Given the description of an element on the screen output the (x, y) to click on. 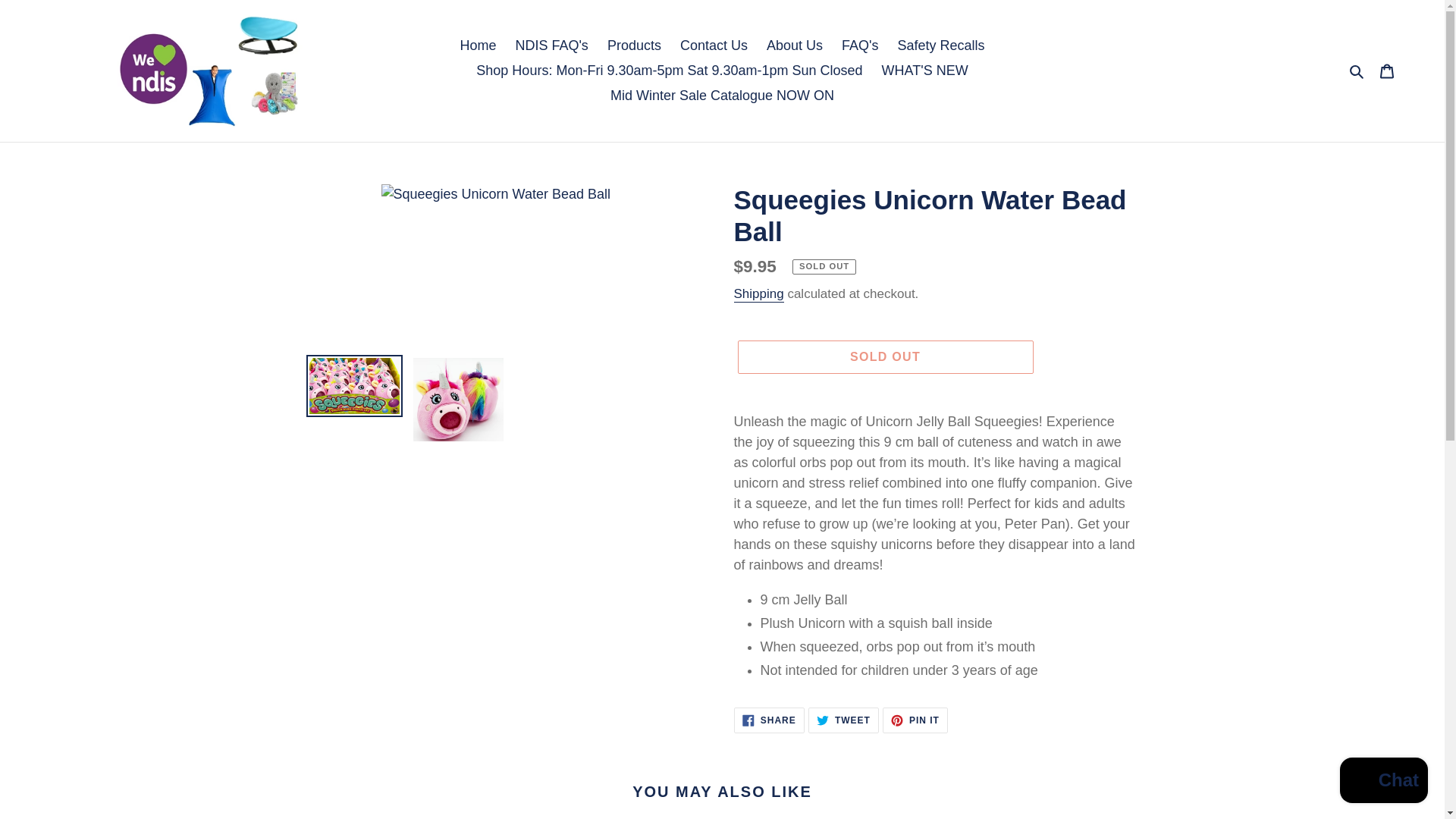
Home (477, 45)
FAQ's (859, 45)
WHAT'S NEW (925, 70)
SOLD OUT (884, 356)
Shop Hours: Mon-Fri 9.30am-5pm Sat 9.30am-1pm Sun Closed (668, 70)
Contact Us (843, 720)
Shipping (914, 720)
